Given the description of an element on the screen output the (x, y) to click on. 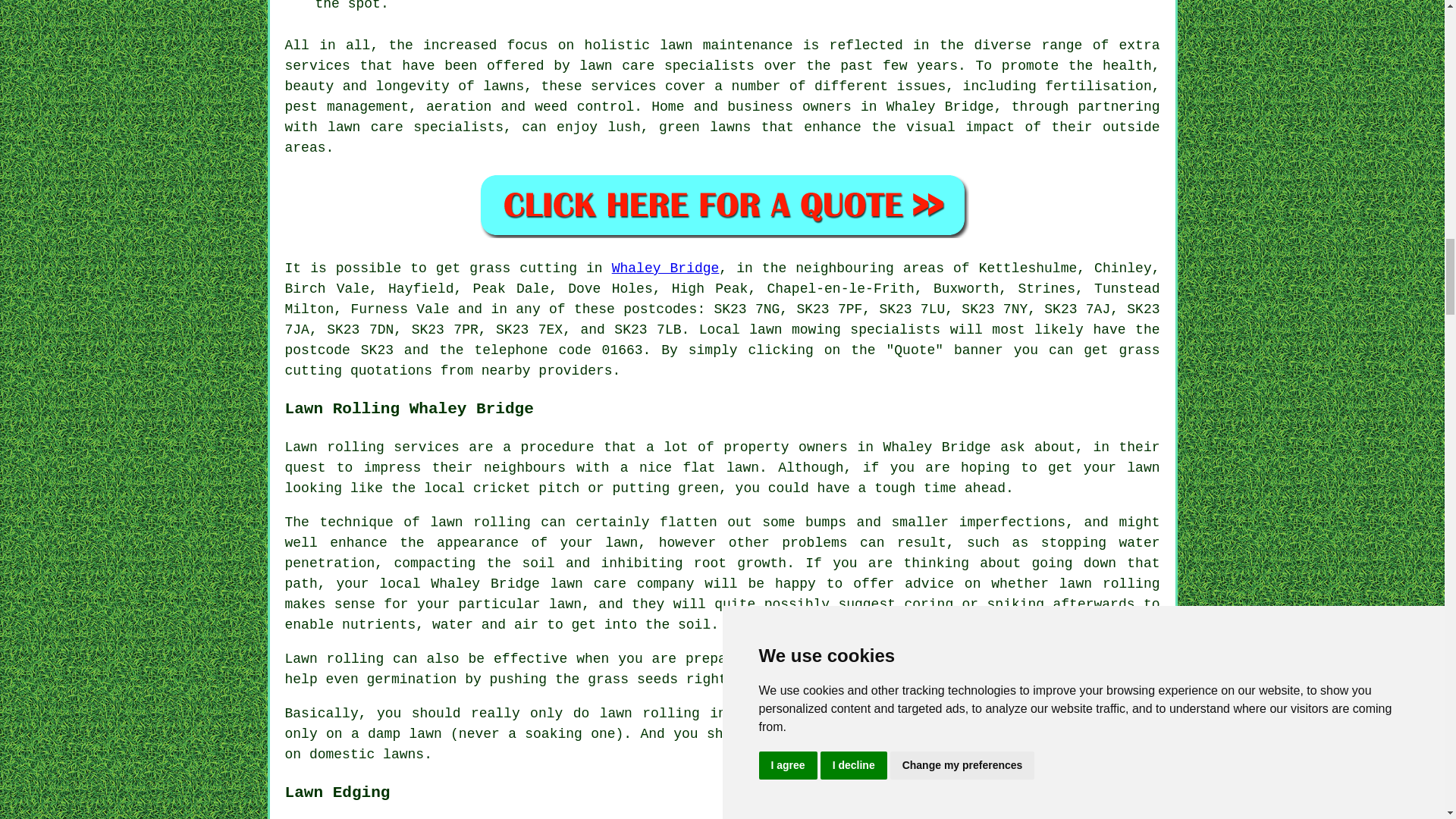
grass cutting (522, 268)
Gardener Quotes in Whaley Bridge Derbyshire (722, 204)
grass cutting (722, 360)
lawn mowing (795, 329)
lawn maintenance (725, 45)
